Given the description of an element on the screen output the (x, y) to click on. 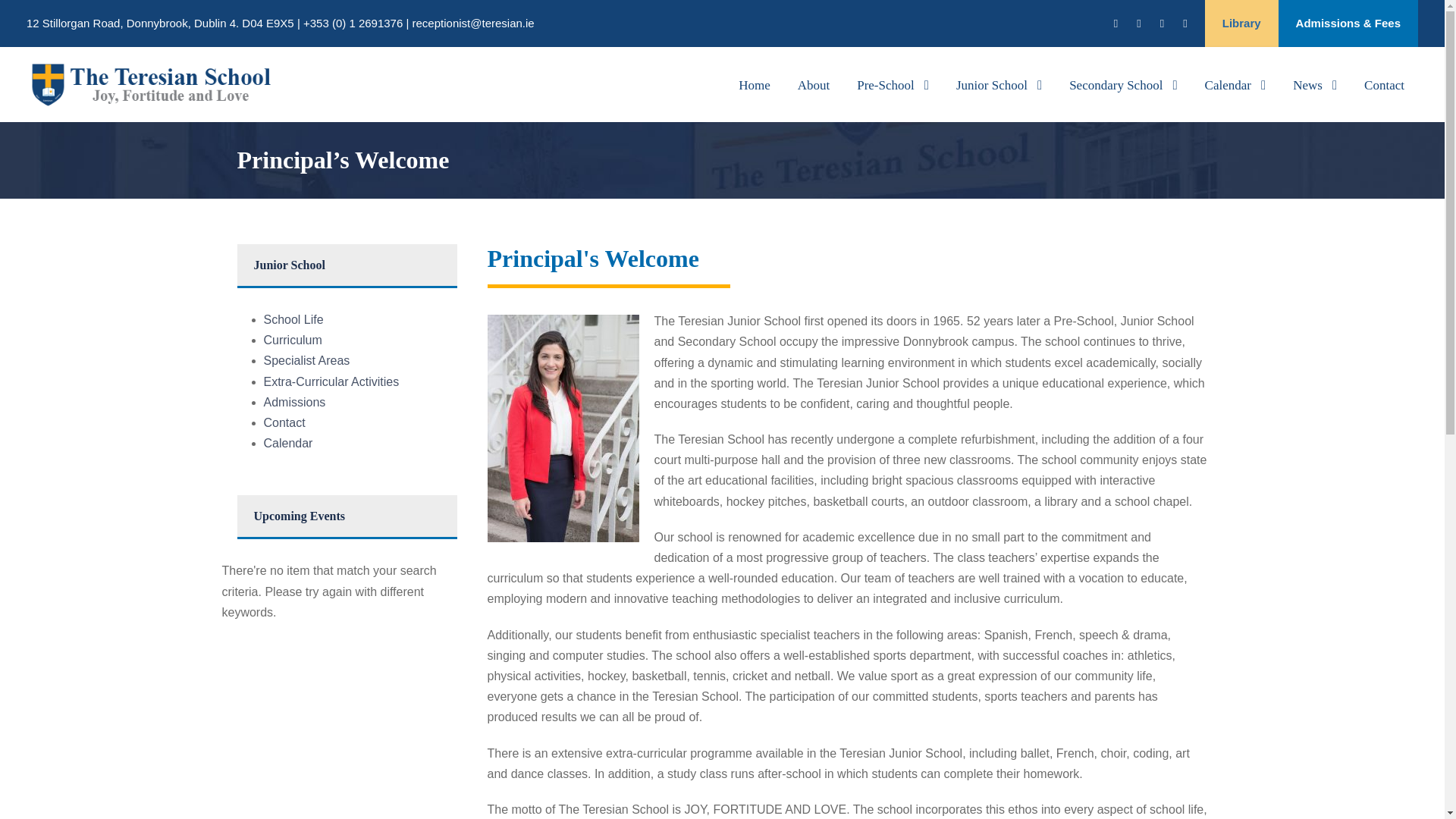
Library (1241, 23)
